Given the description of an element on the screen output the (x, y) to click on. 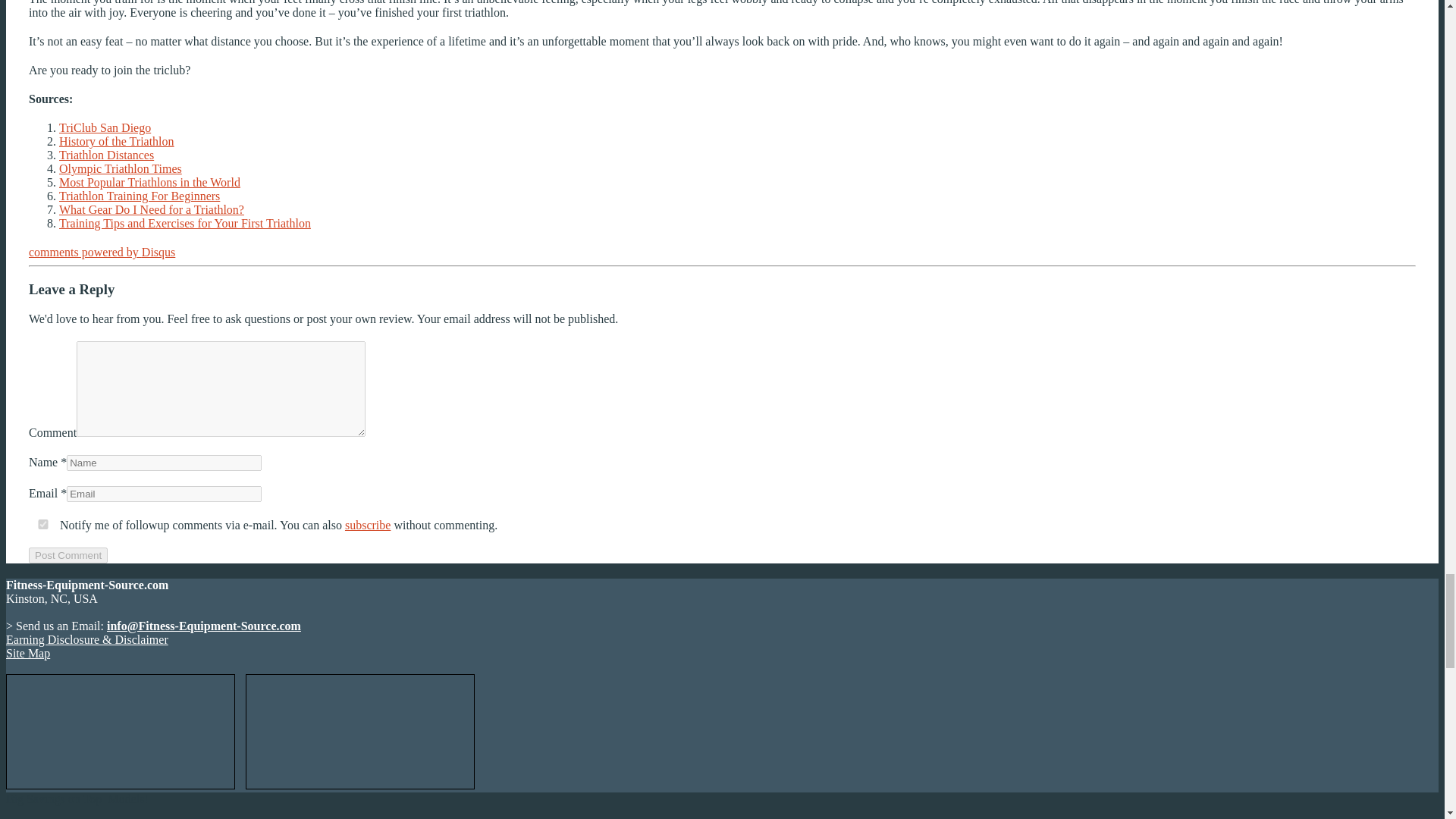
Olympic Triathlon Times (120, 168)
History of the Triathlon (116, 141)
Post Comment (68, 555)
replies (43, 524)
Triathlon Training For Beginners (139, 195)
TriClub San Diego (105, 127)
What Gear Do I Need for a Triathlon? (151, 209)
Training Tips and Exercises for Your First Triathlon (185, 223)
comments powered by Disqus (101, 251)
Triathlon Distances (106, 154)
Most Popular Triathlons in the World (149, 182)
